Given the description of an element on the screen output the (x, y) to click on. 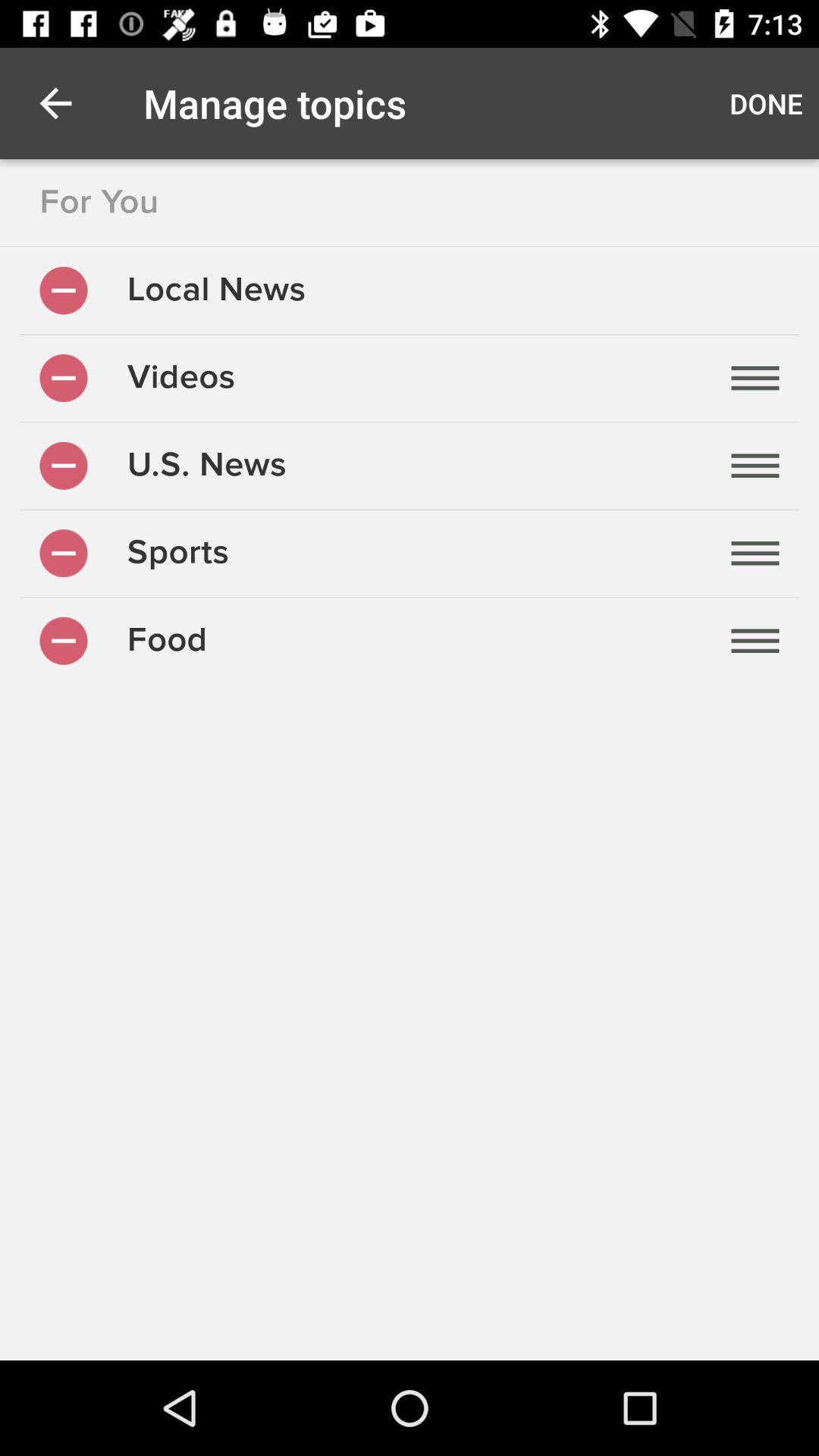
deselect videos (63, 378)
